Given the description of an element on the screen output the (x, y) to click on. 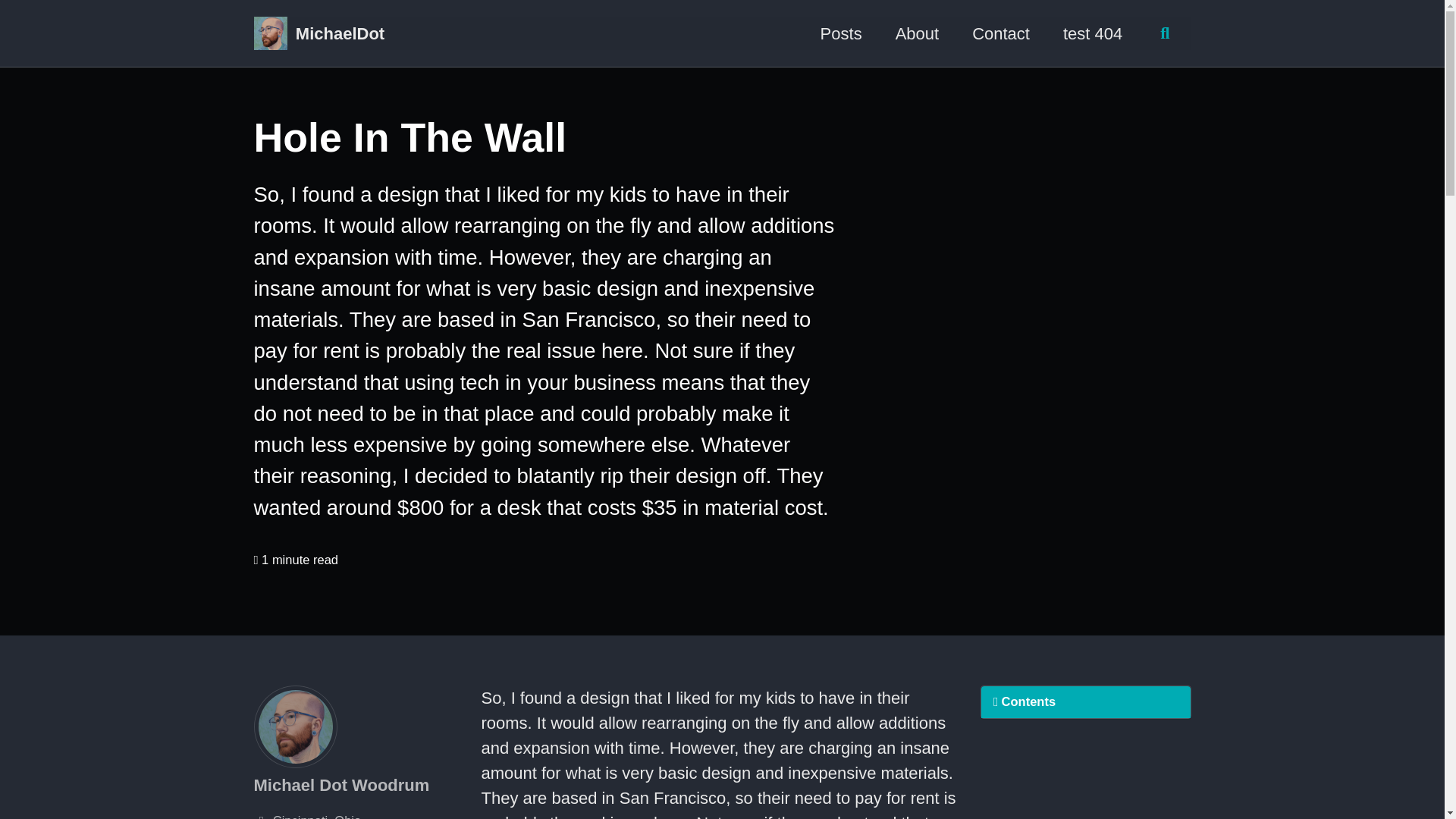
Michael Dot Woodrum (341, 784)
MichaelDot (339, 33)
Posts (841, 33)
About (917, 33)
Contact (1000, 33)
test 404 (1092, 33)
